Given the description of an element on the screen output the (x, y) to click on. 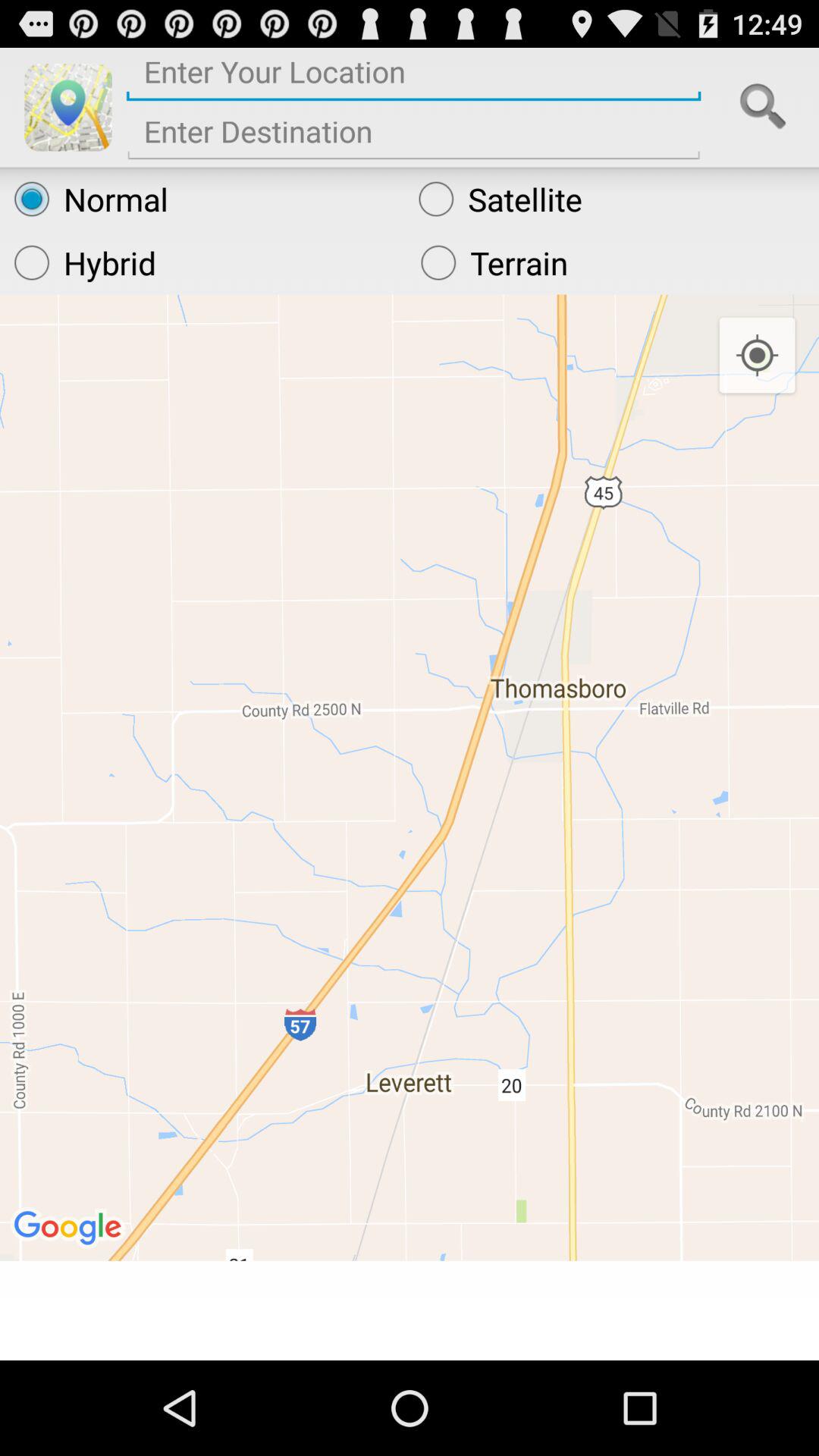
choose the icon at the center (409, 777)
